Given the description of an element on the screen output the (x, y) to click on. 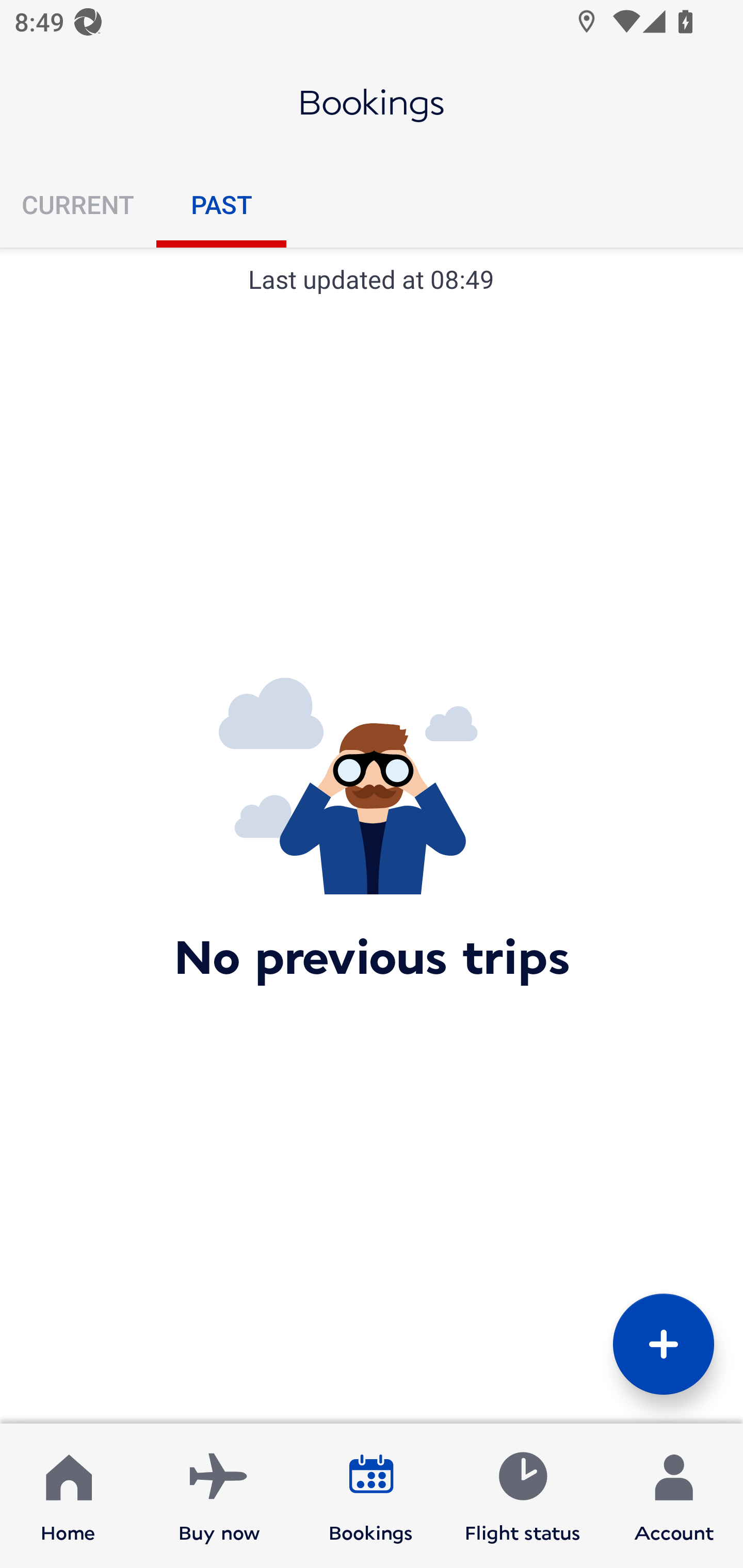
CURRENT (78, 204)
Home (68, 1495)
Buy now (219, 1495)
Flight status (522, 1495)
Account (674, 1495)
